Given the description of an element on the screen output the (x, y) to click on. 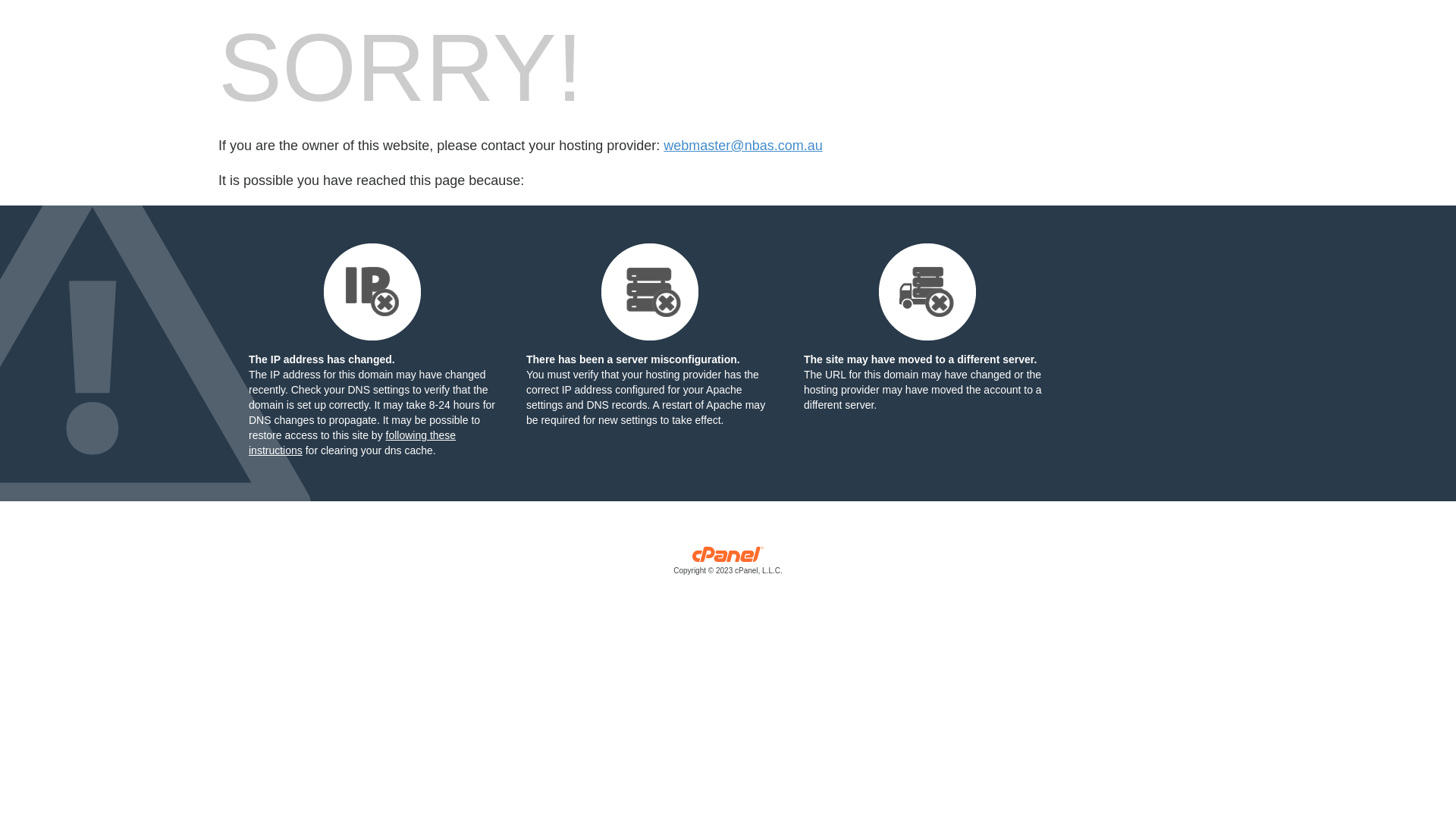
webmaster@nbas.com.au Element type: text (742, 145)
following these instructions Element type: text (351, 442)
